Given the description of an element on the screen output the (x, y) to click on. 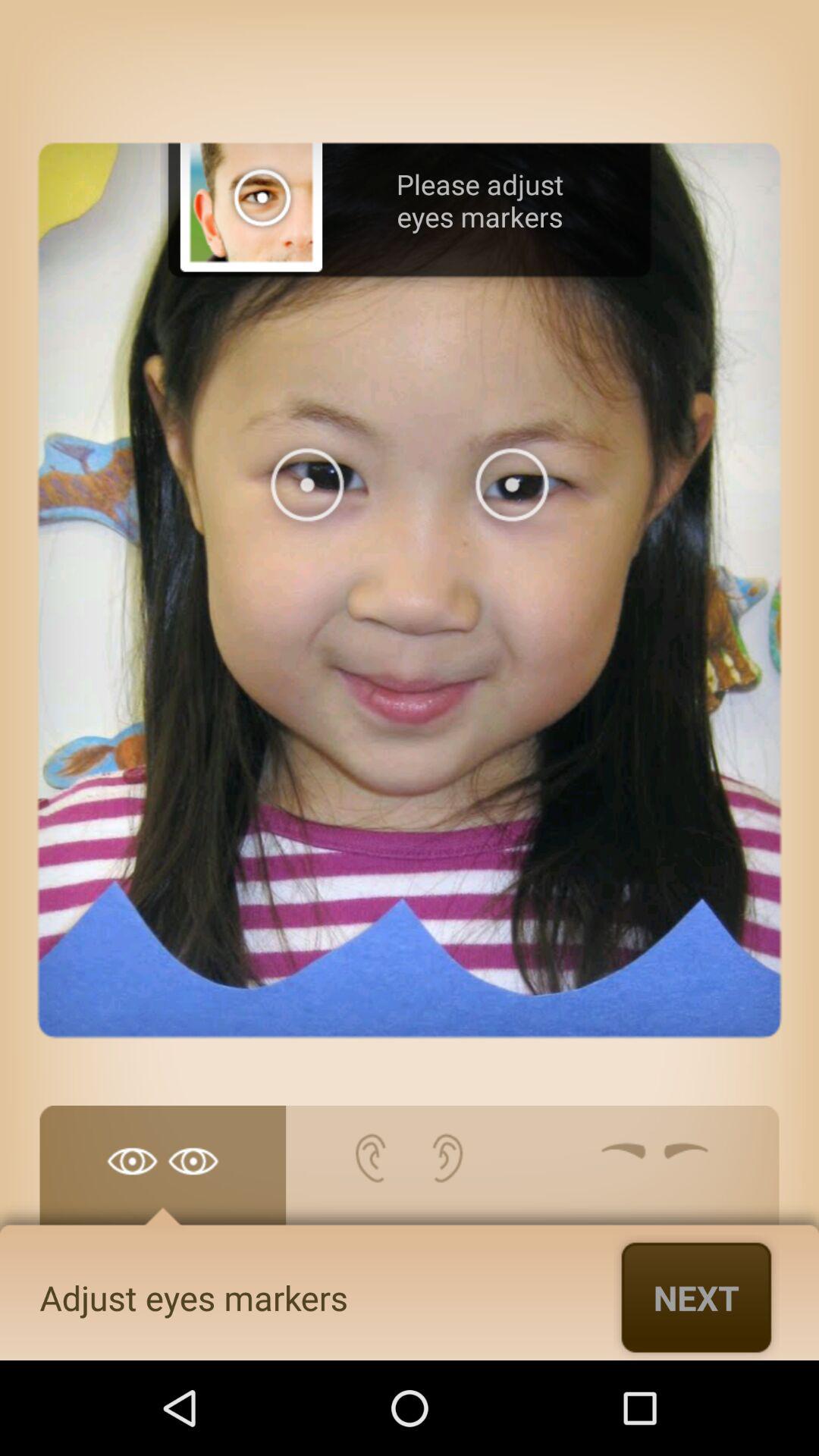
scroll to next item (696, 1297)
